Given the description of an element on the screen output the (x, y) to click on. 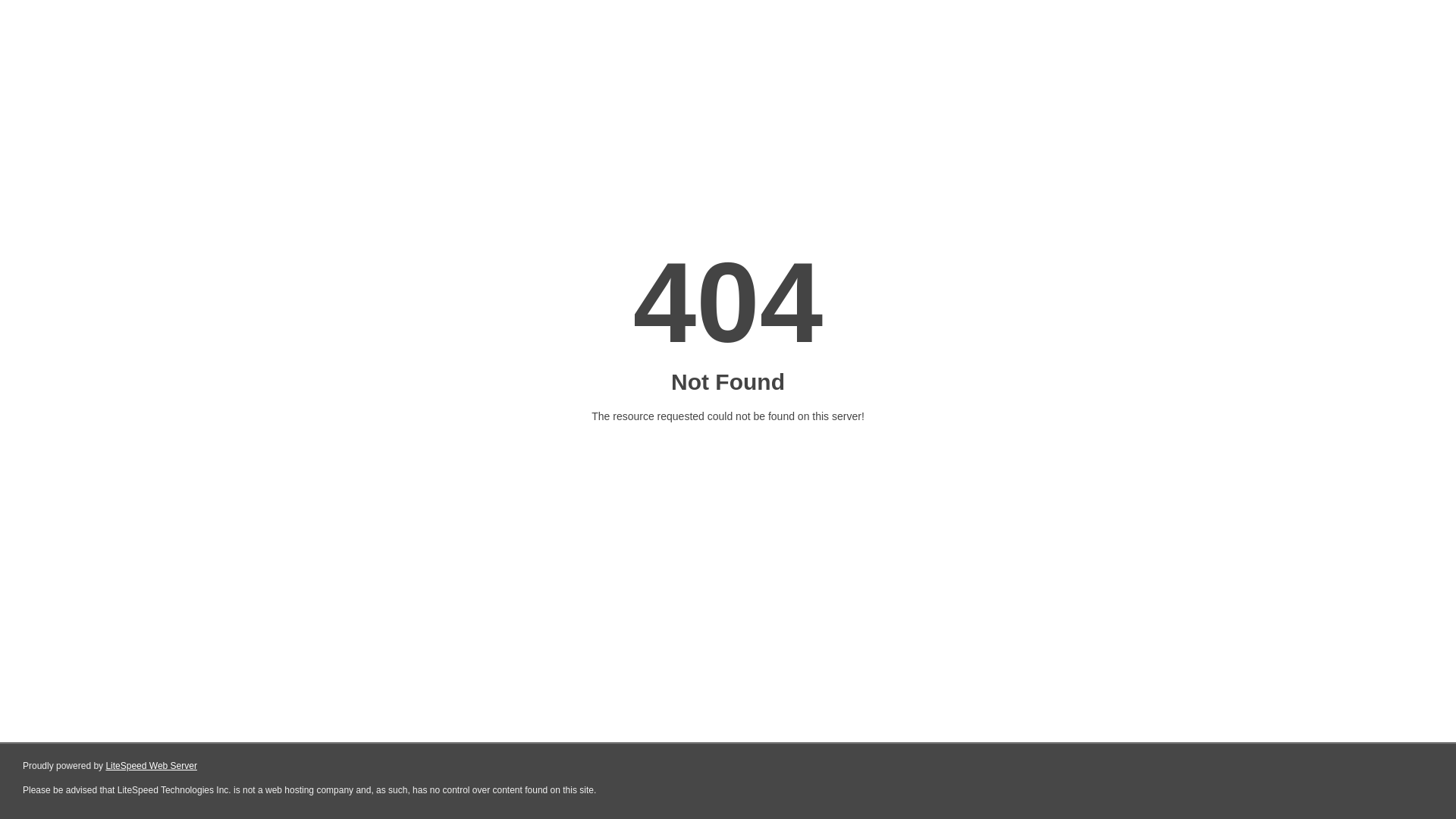
LiteSpeed Web Server Element type: text (151, 765)
